Given the description of an element on the screen output the (x, y) to click on. 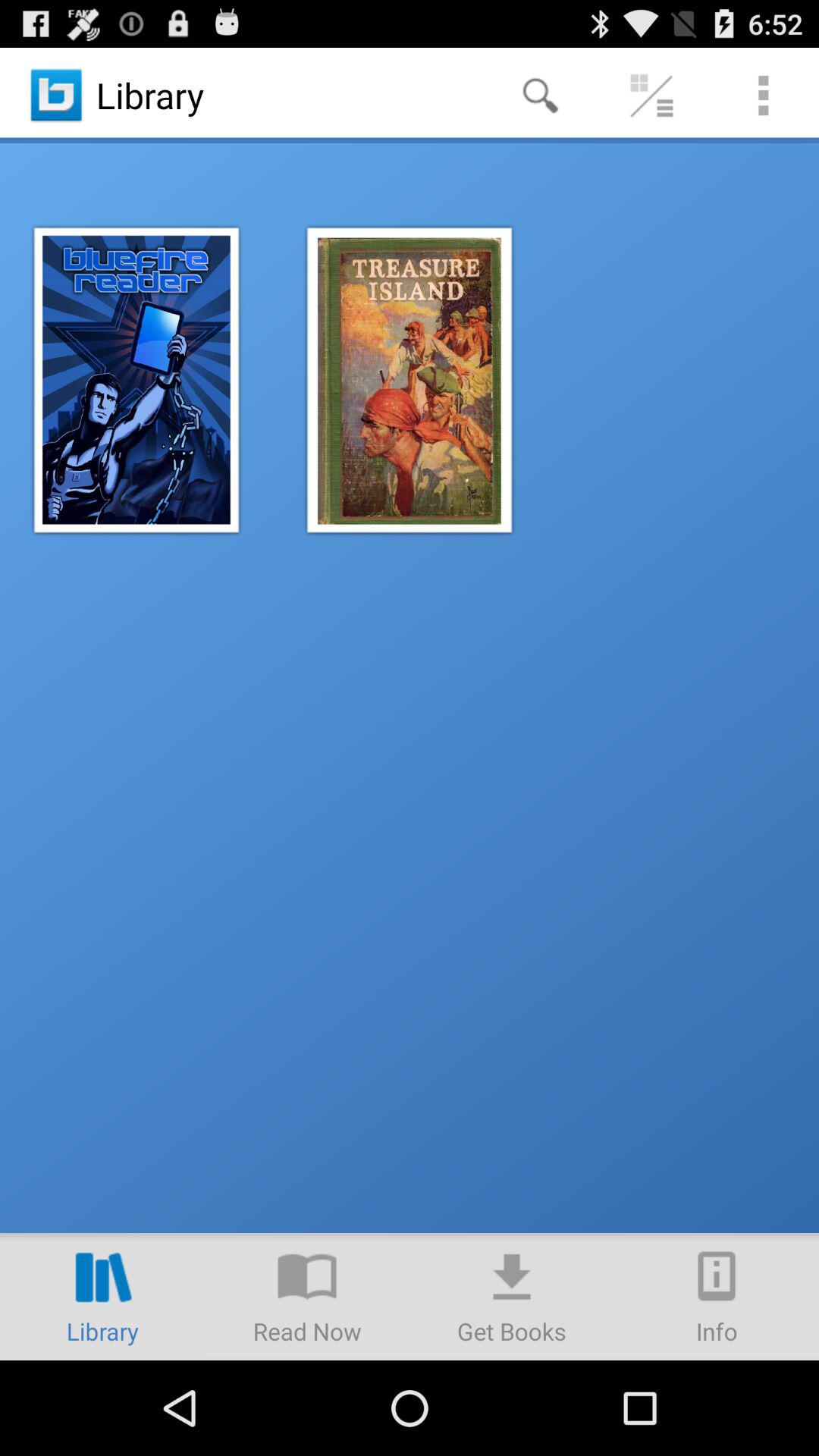
read now option (306, 1296)
